Given the description of an element on the screen output the (x, y) to click on. 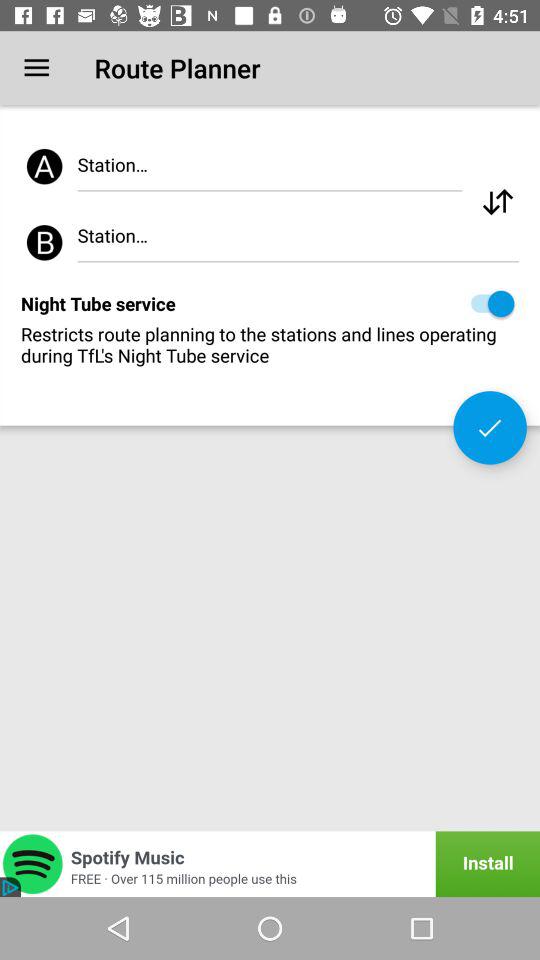
turn off the item next to route planner item (36, 68)
